Given the description of an element on the screen output the (x, y) to click on. 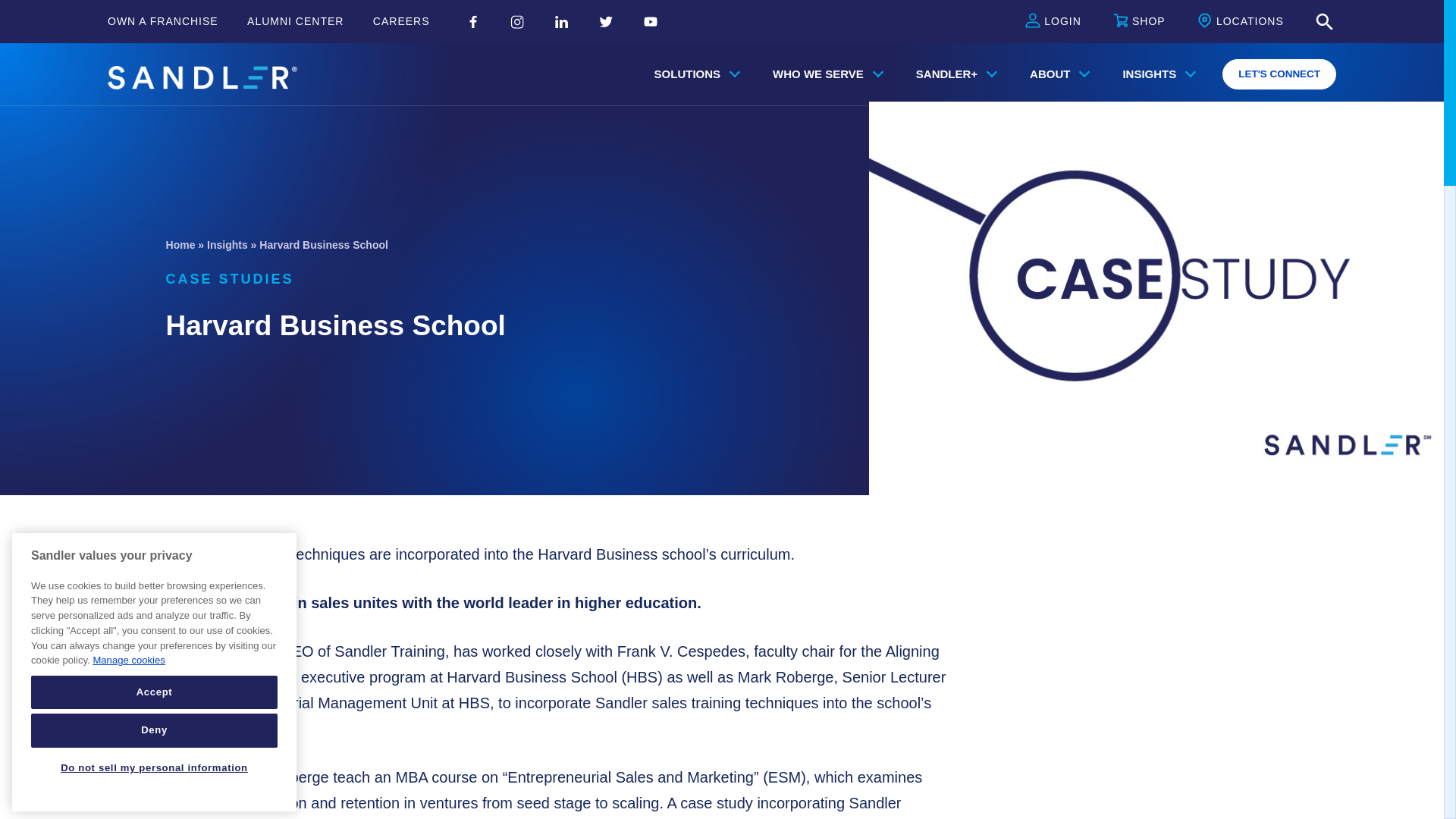
ALUMNI CENTER (295, 21)
WHO WE SERVE (824, 73)
LOGIN (1053, 22)
OWN A FRANCHISE (162, 21)
SOLUTIONS (694, 73)
LOCATIONS (1240, 22)
CAREERS (400, 21)
SHOP (1139, 22)
Open Search (1324, 21)
